Given the description of an element on the screen output the (x, y) to click on. 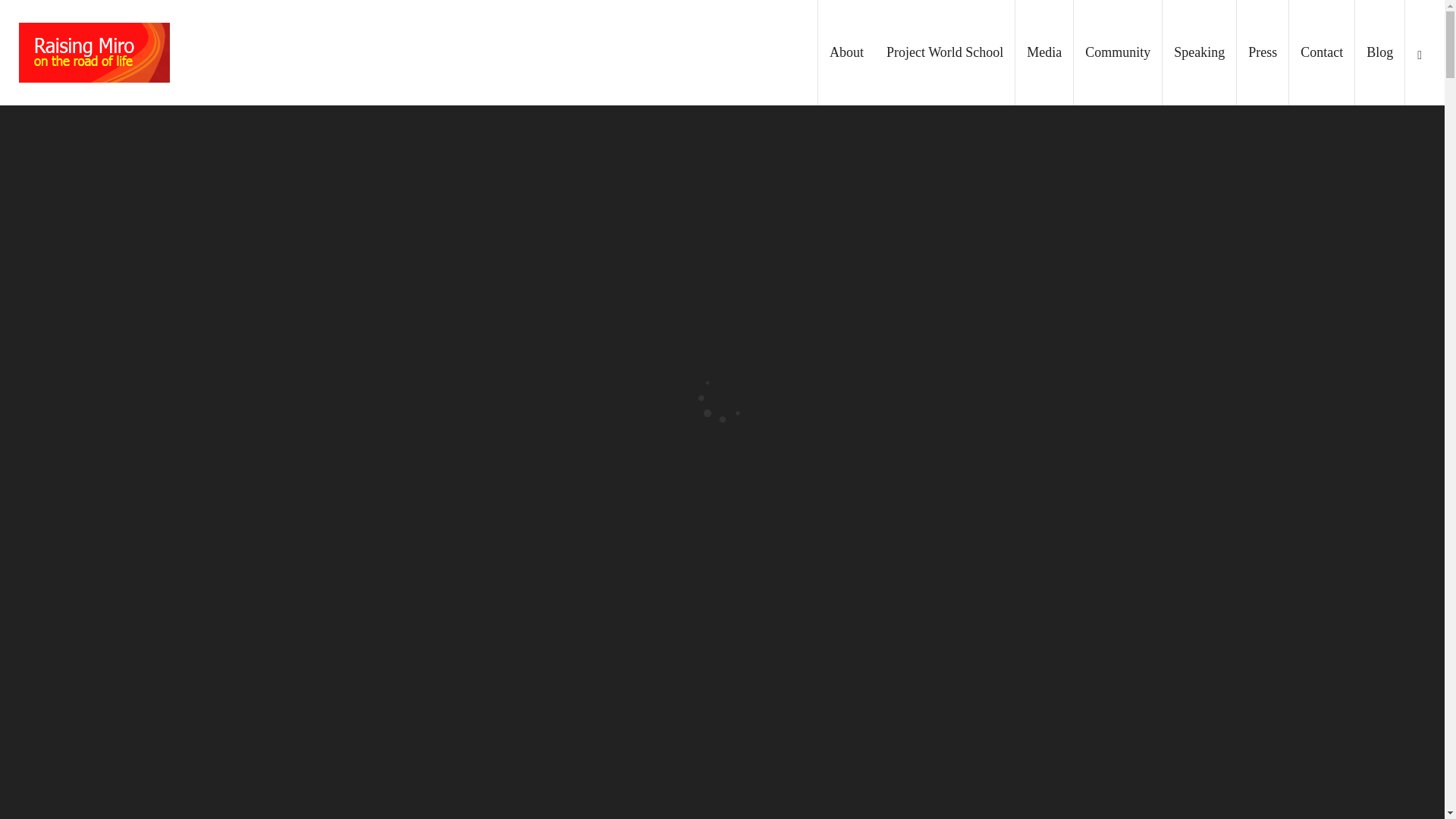
Project World School (944, 52)
